Given the description of an element on the screen output the (x, y) to click on. 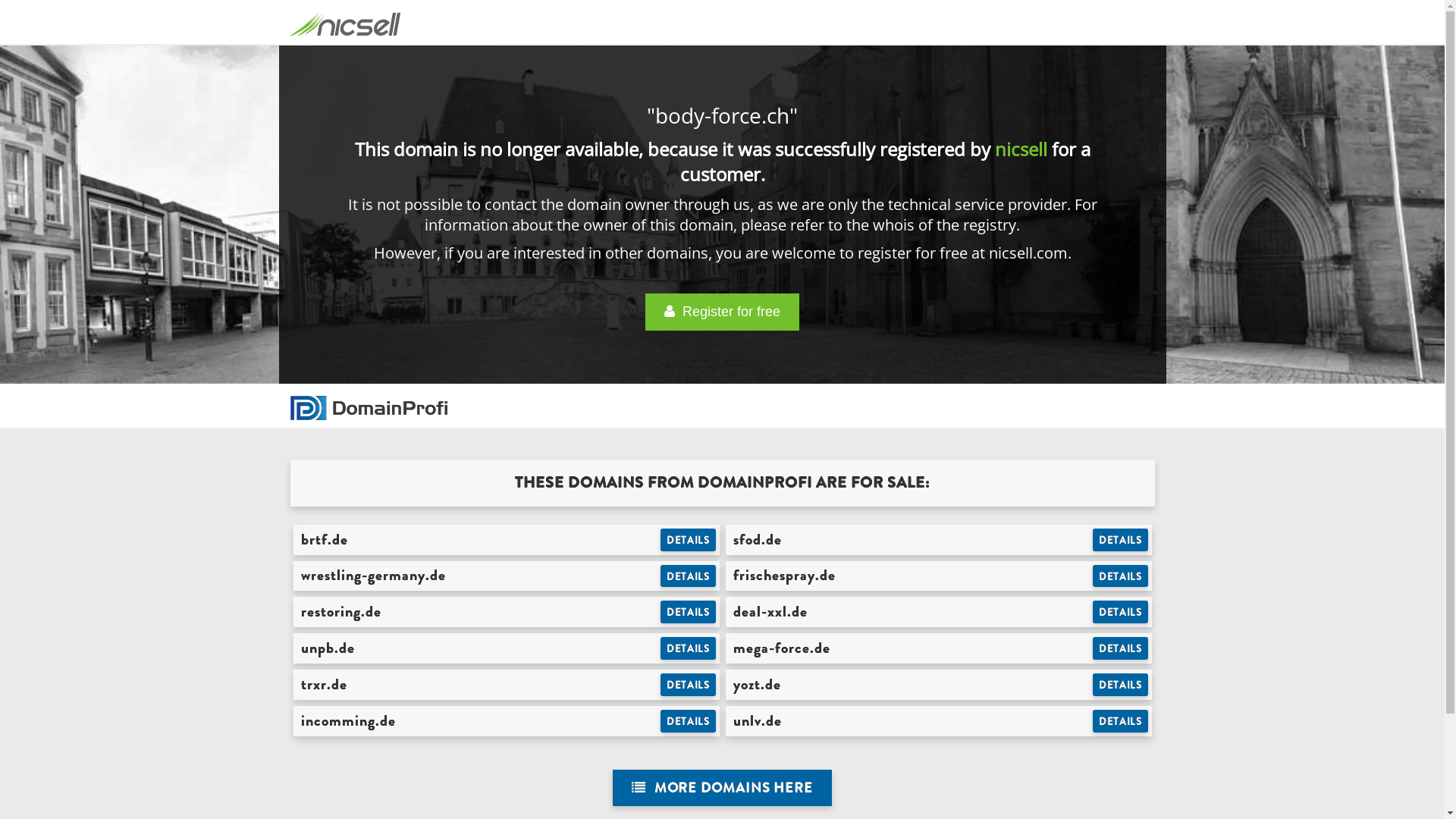
DETAILS Element type: text (687, 720)
nicsell Element type: text (1020, 148)
DETAILS Element type: text (1120, 611)
DETAILS Element type: text (1120, 684)
  Register for free Element type: text (722, 311)
DETAILS Element type: text (687, 539)
  MORE DOMAINS HERE Element type: text (721, 787)
DETAILS Element type: text (687, 611)
DETAILS Element type: text (1120, 539)
DETAILS Element type: text (1120, 648)
DETAILS Element type: text (687, 684)
DETAILS Element type: text (687, 575)
DETAILS Element type: text (1120, 575)
DETAILS Element type: text (1120, 720)
DETAILS Element type: text (687, 648)
